Given the description of an element on the screen output the (x, y) to click on. 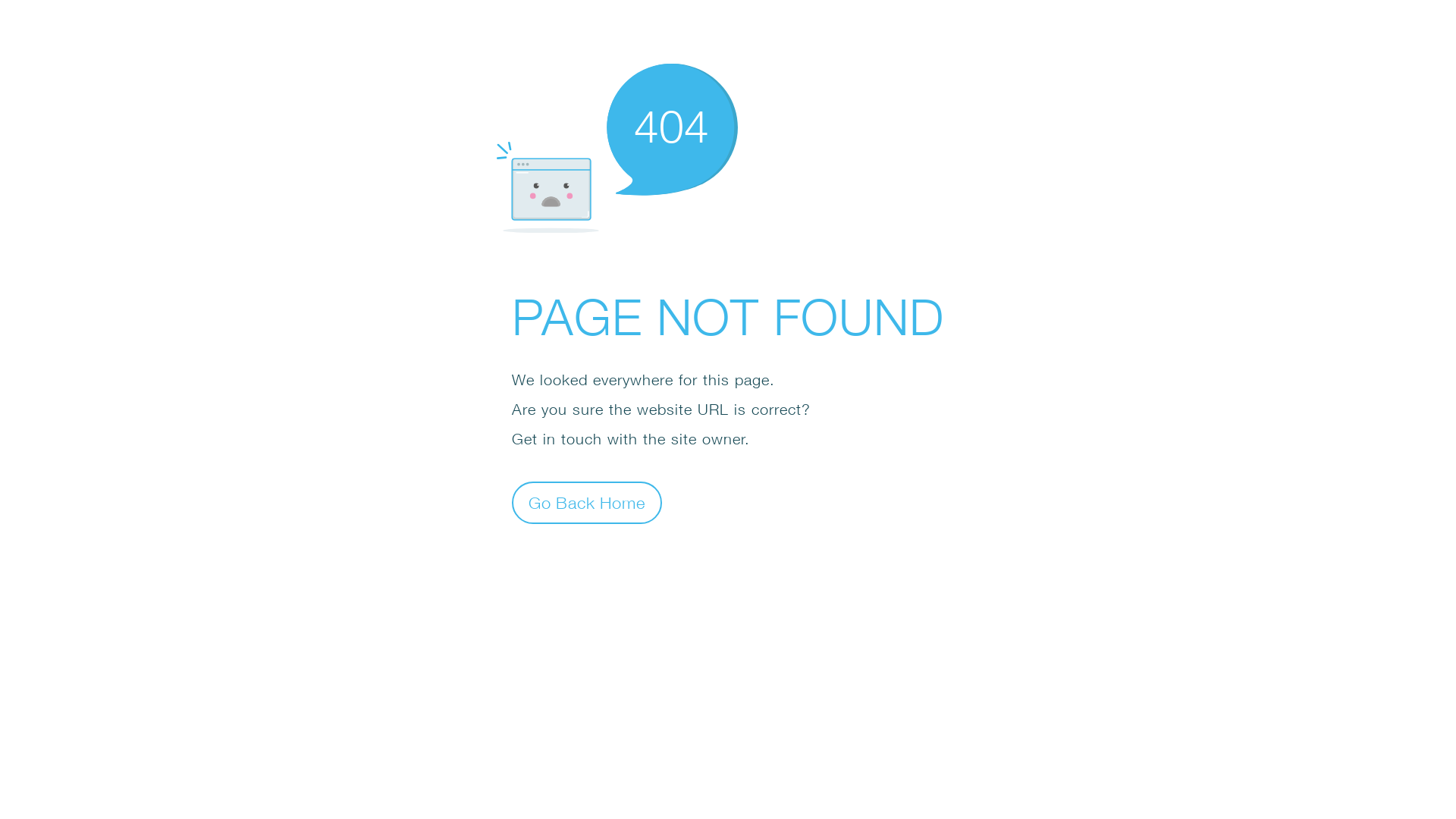
Go Back Home Element type: text (586, 502)
